Given the description of an element on the screen output the (x, y) to click on. 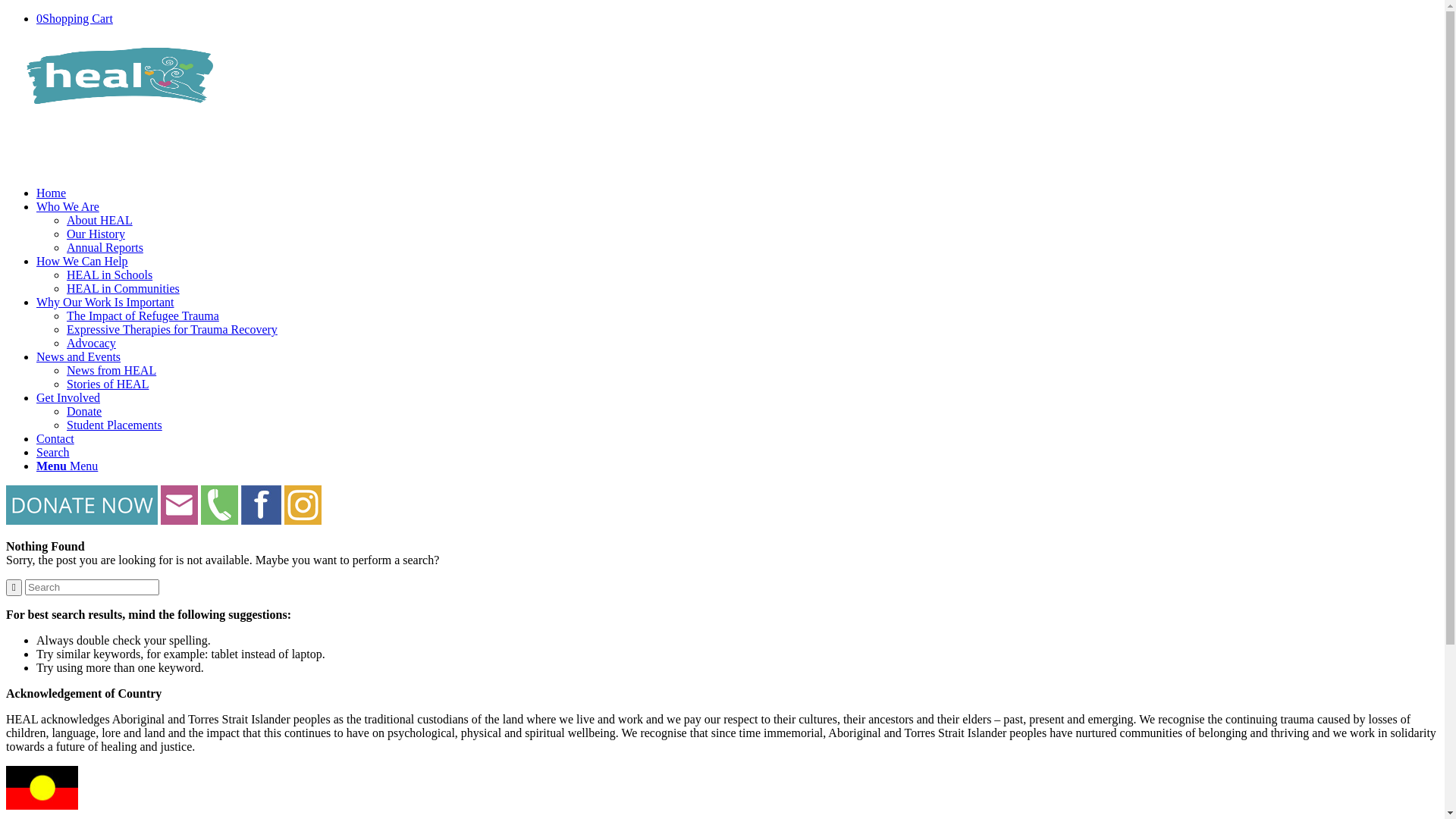
Home Element type: text (50, 192)
Annual Reports Element type: text (104, 247)
Student Placements Element type: text (114, 424)
Who We Are Element type: text (67, 206)
News and Events Element type: text (78, 356)
News from HEAL Element type: text (111, 370)
Advocacy Element type: text (91, 342)
About HEAL Element type: text (99, 219)
Donate Element type: text (83, 410)
Why Our Work Is Important Element type: text (105, 301)
Expressive Therapies for Trauma Recovery Element type: text (171, 329)
Stories of HEAL Element type: text (107, 383)
HEAL in Schools Element type: text (109, 274)
Contact Element type: text (55, 438)
HEAL in Communities Element type: text (122, 288)
HEAL Website Icon (1) Element type: hover (119, 75)
Search Element type: text (52, 451)
Get Involved Element type: text (68, 397)
Our History Element type: text (95, 233)
The Impact of Refugee Trauma Element type: text (142, 315)
0Shopping Cart Element type: text (74, 18)
Menu Menu Element type: text (66, 465)
How We Can Help Element type: text (82, 260)
